Given the description of an element on the screen output the (x, y) to click on. 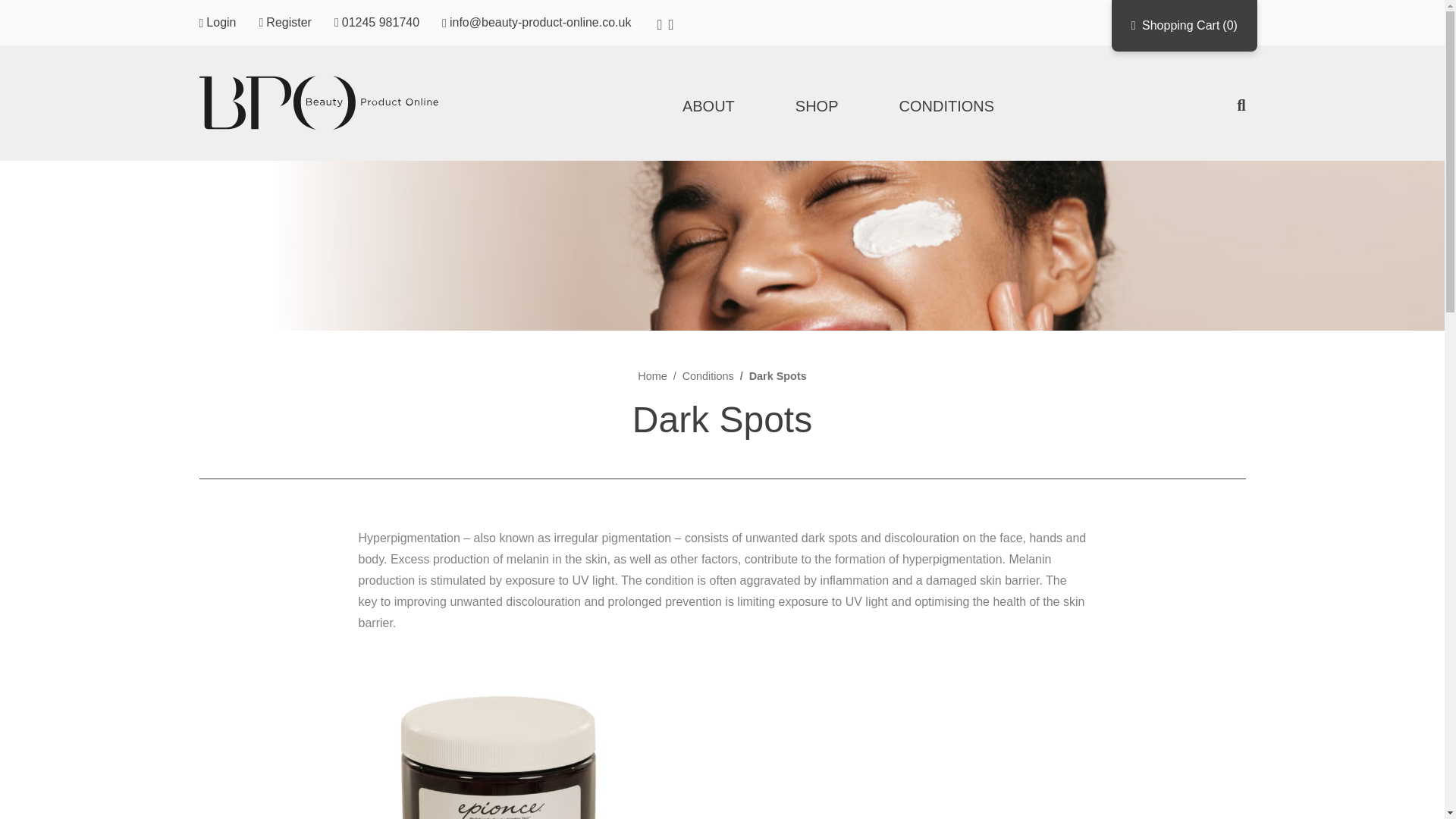
Return to homepage (320, 103)
ABOUT (708, 105)
Conditions (707, 376)
Home (651, 376)
Login (216, 22)
SHOP (816, 105)
Beauty Product Online (320, 103)
01245 981740 (376, 22)
Register (285, 22)
CONDITIONS (946, 105)
